Given the description of an element on the screen output the (x, y) to click on. 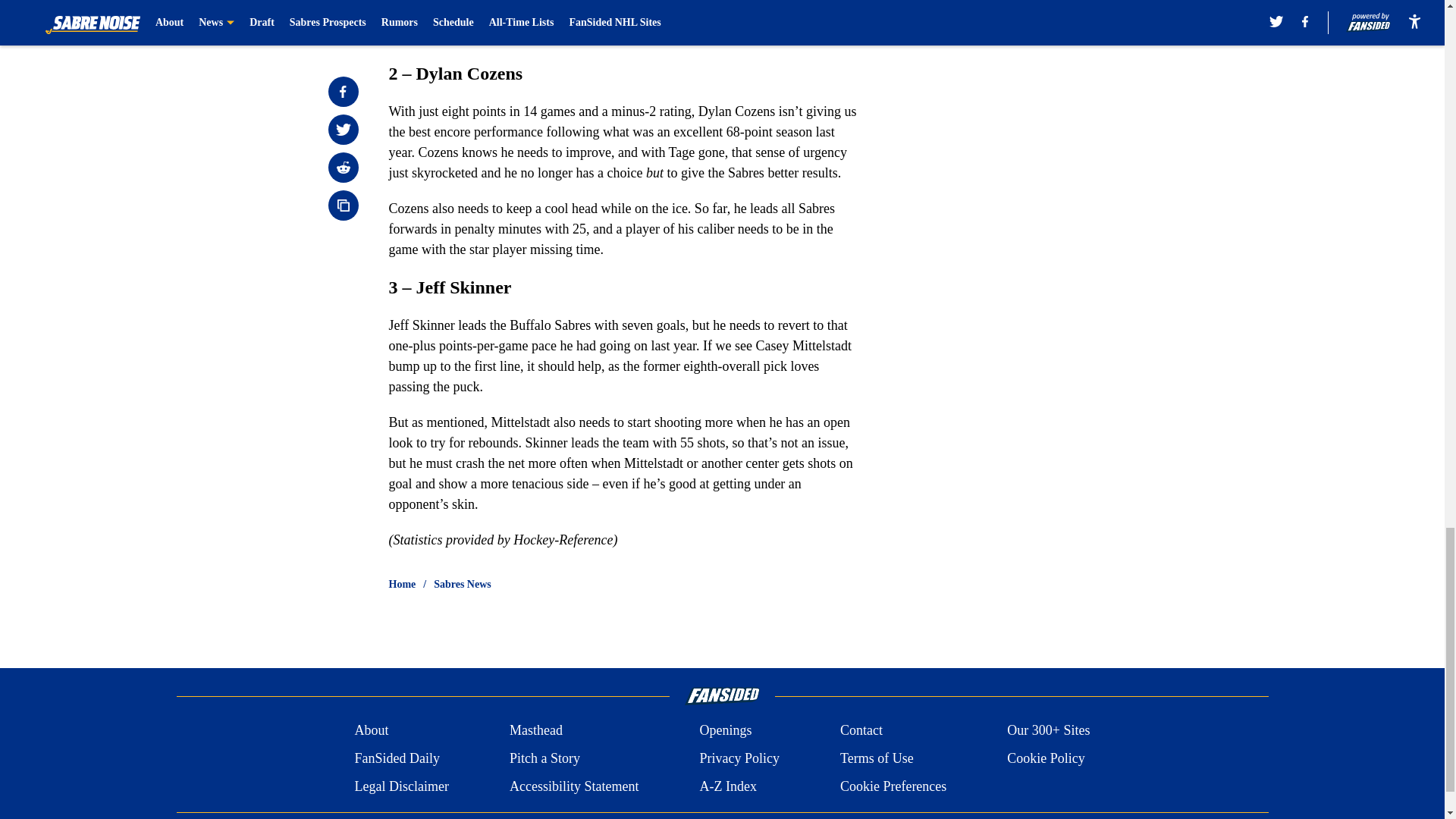
Sabres News (462, 584)
About (370, 730)
A-Z Index (726, 786)
Pitch a Story (544, 758)
Masthead (535, 730)
Privacy Policy (738, 758)
Cookie Policy (1045, 758)
Cookie Preferences (893, 786)
Legal Disclaimer (400, 786)
FanSided Daily (396, 758)
Contact (861, 730)
Terms of Use (877, 758)
Home (401, 584)
Accessibility Statement (574, 786)
Openings (724, 730)
